Given the description of an element on the screen output the (x, y) to click on. 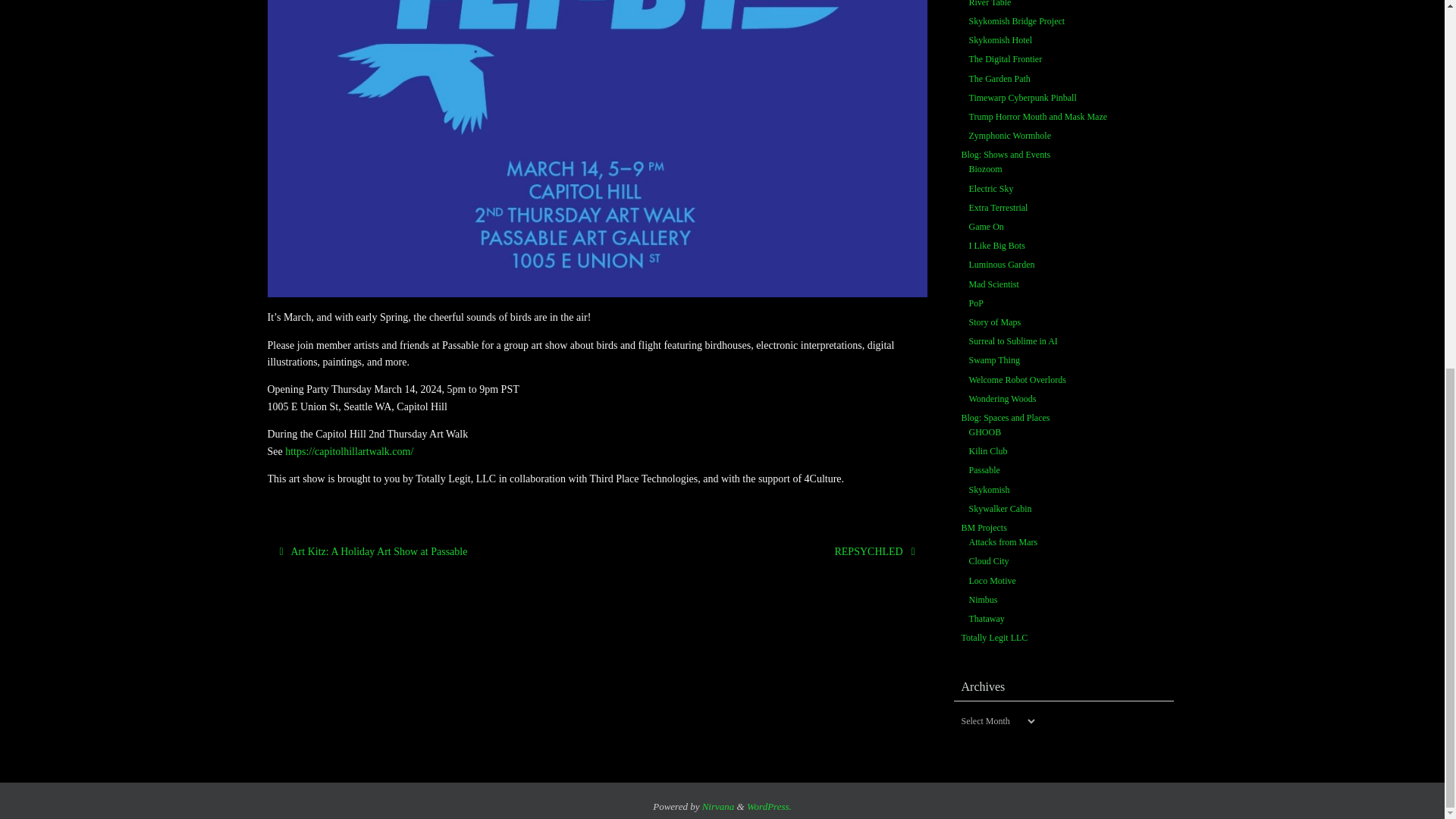
Art Kitz: A Holiday Art Show at Passable (427, 551)
REPSYCHLED (765, 551)
Nirvana Theme by Cryout Creations (718, 806)
Skykomish Bridge Project (1017, 21)
Skykomish Hotel (1000, 40)
River Table (990, 4)
Semantic Personal Publishing Platform (769, 806)
